Given the description of an element on the screen output the (x, y) to click on. 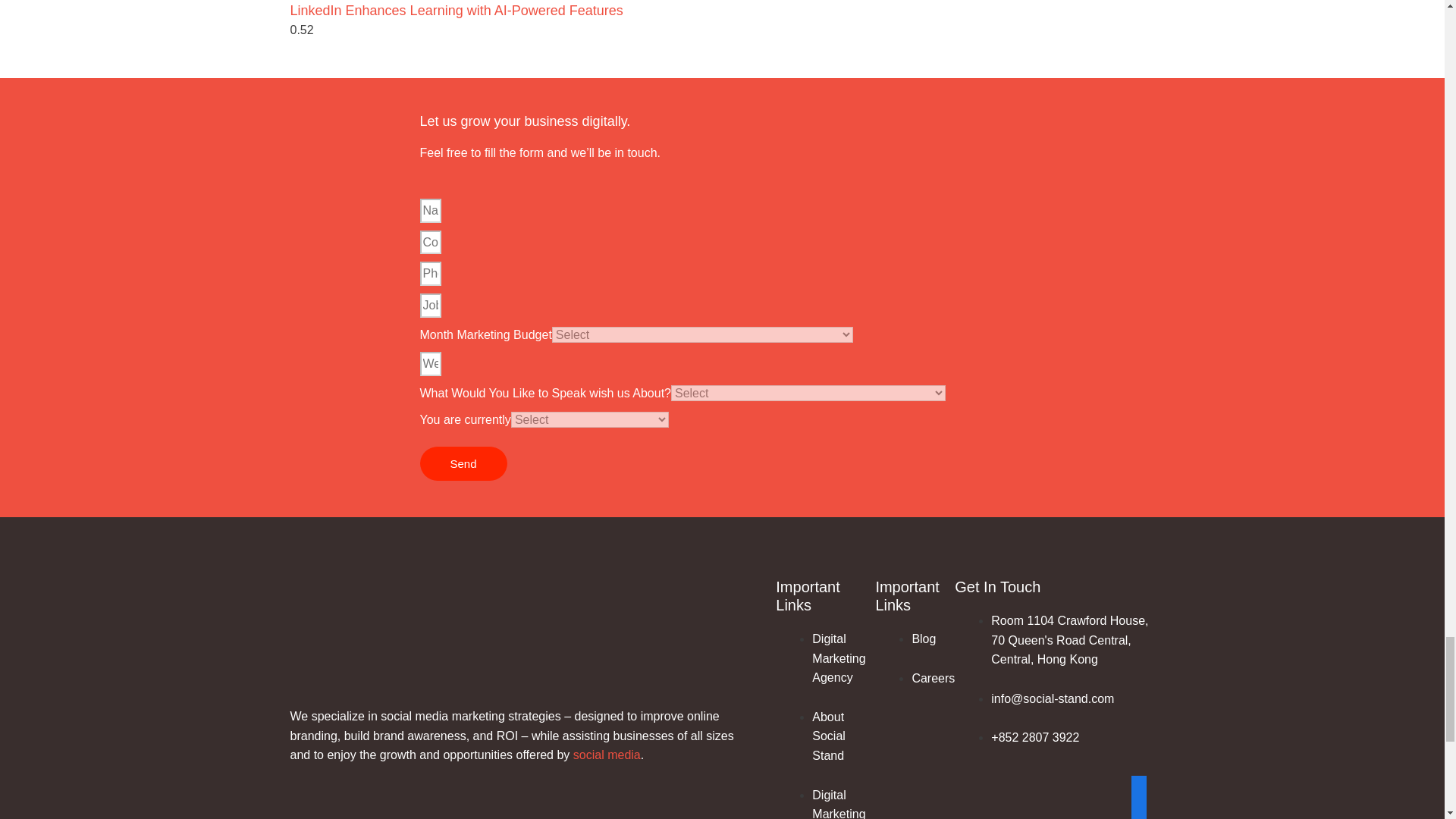
social media marketing (442, 716)
social media (606, 754)
Send (463, 462)
LinkedIn Enhances Learning with AI-Powered Features (456, 10)
